Given the description of an element on the screen output the (x, y) to click on. 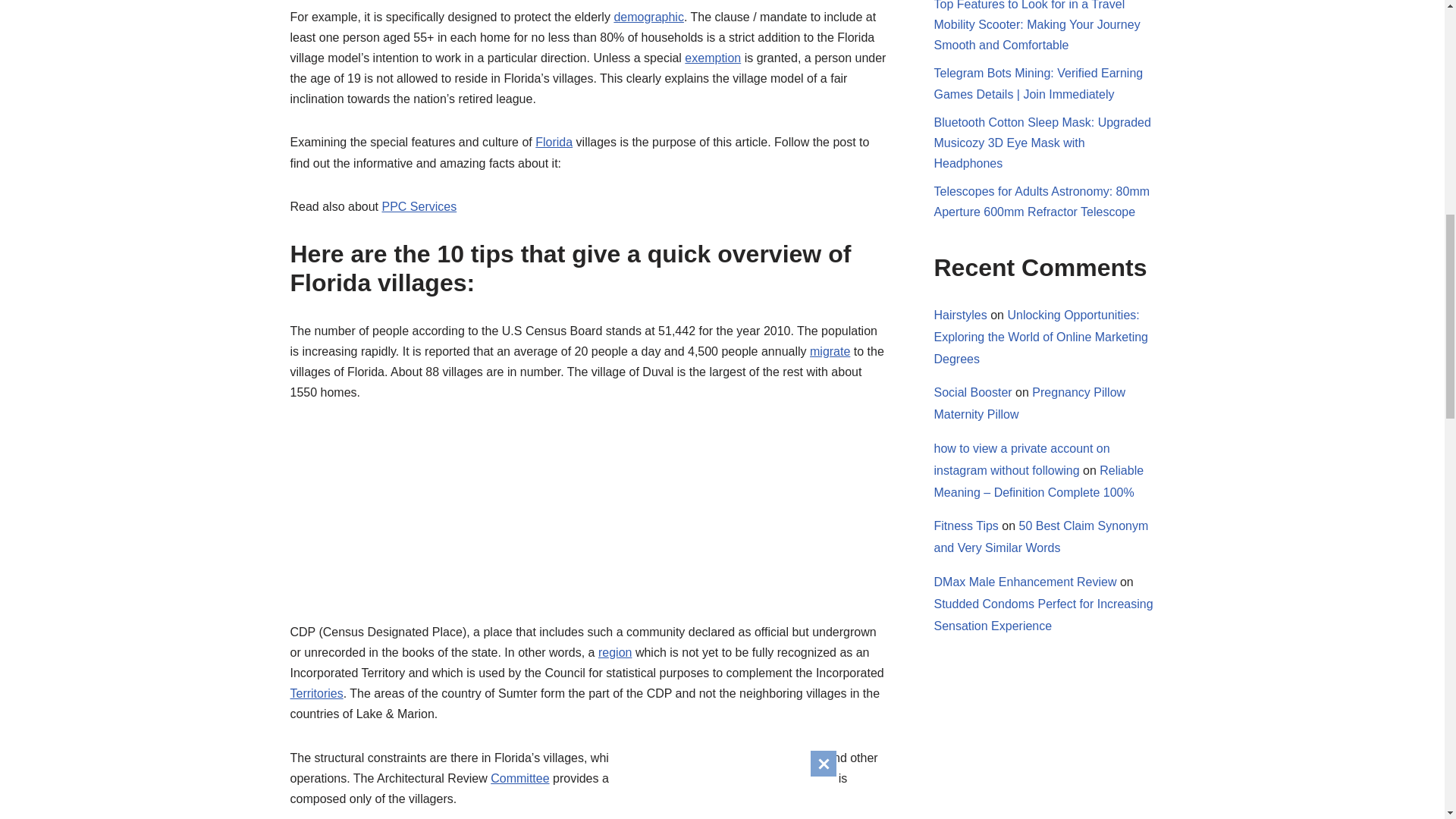
demographic (648, 16)
Territories (315, 693)
region (614, 652)
PPC Services (419, 205)
migrate (829, 350)
Florida (553, 141)
exemption (712, 57)
Committee (519, 778)
